Given the description of an element on the screen output the (x, y) to click on. 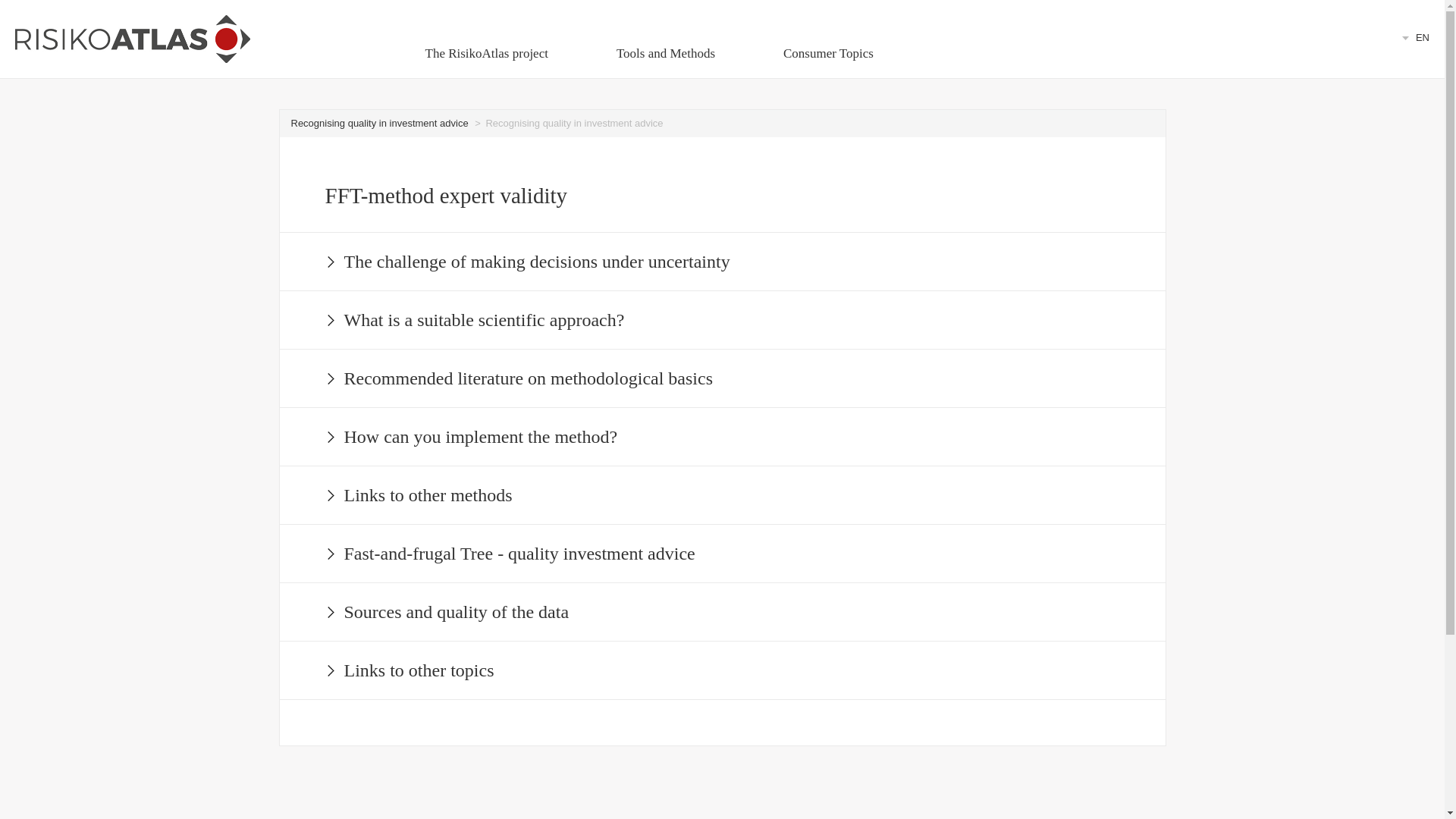
Home (132, 39)
